Given the description of an element on the screen output the (x, y) to click on. 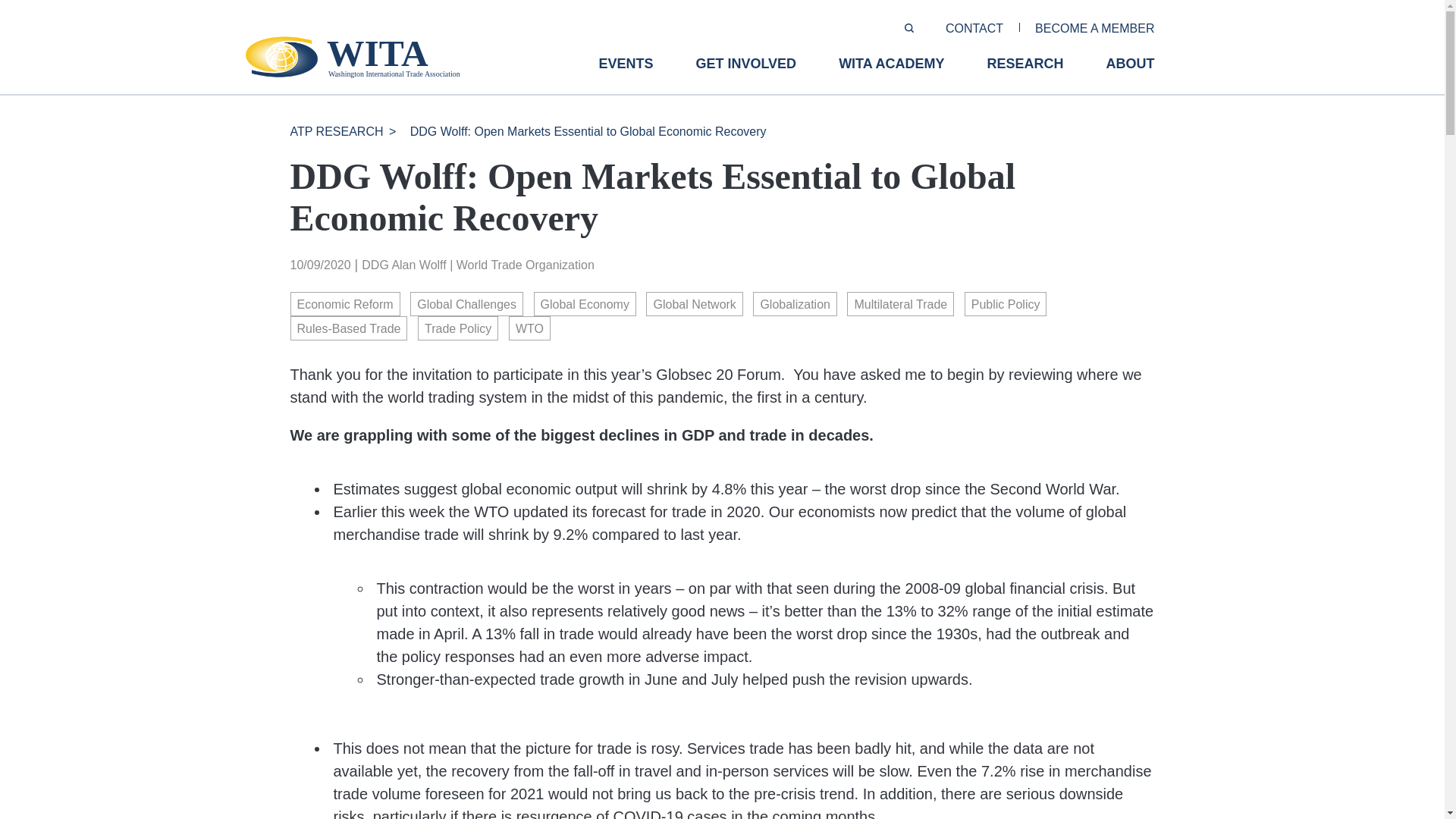
GET INVOLVED (745, 75)
RESEARCH (1024, 75)
ABOUT (1129, 75)
BECOME A MEMBER (1094, 28)
ATP RESEARCH (335, 131)
EVENTS (625, 75)
Search (19, 6)
Economic Reform (343, 303)
CONTACT (973, 28)
WITA ACADEMY (890, 75)
Global Challenges (466, 303)
